Given the description of an element on the screen output the (x, y) to click on. 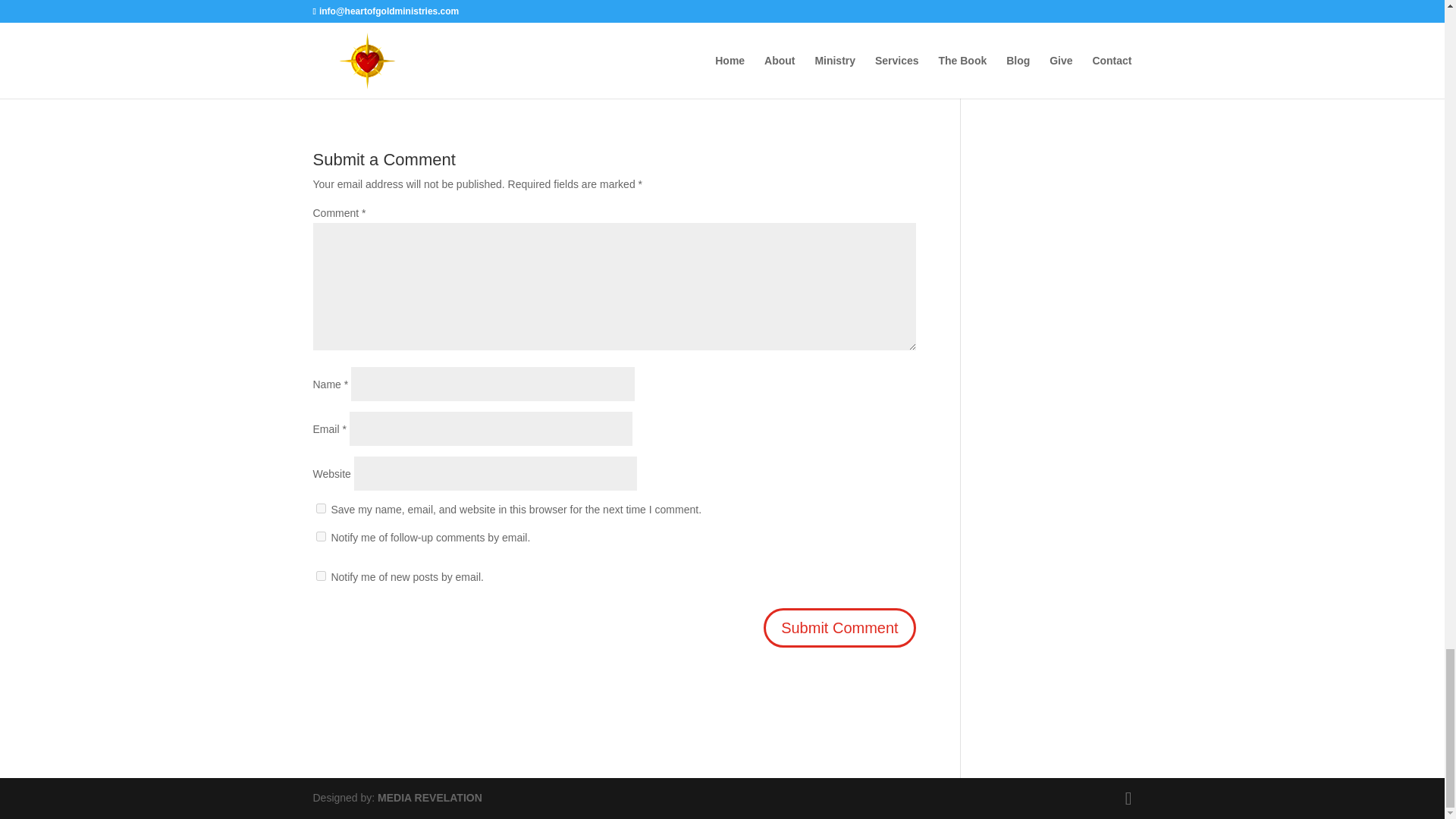
subscribe (319, 575)
Submit Comment (838, 627)
Submit Comment (838, 627)
yes (319, 508)
MEDIA REVELATION (429, 797)
subscribe (319, 536)
